Given the description of an element on the screen output the (x, y) to click on. 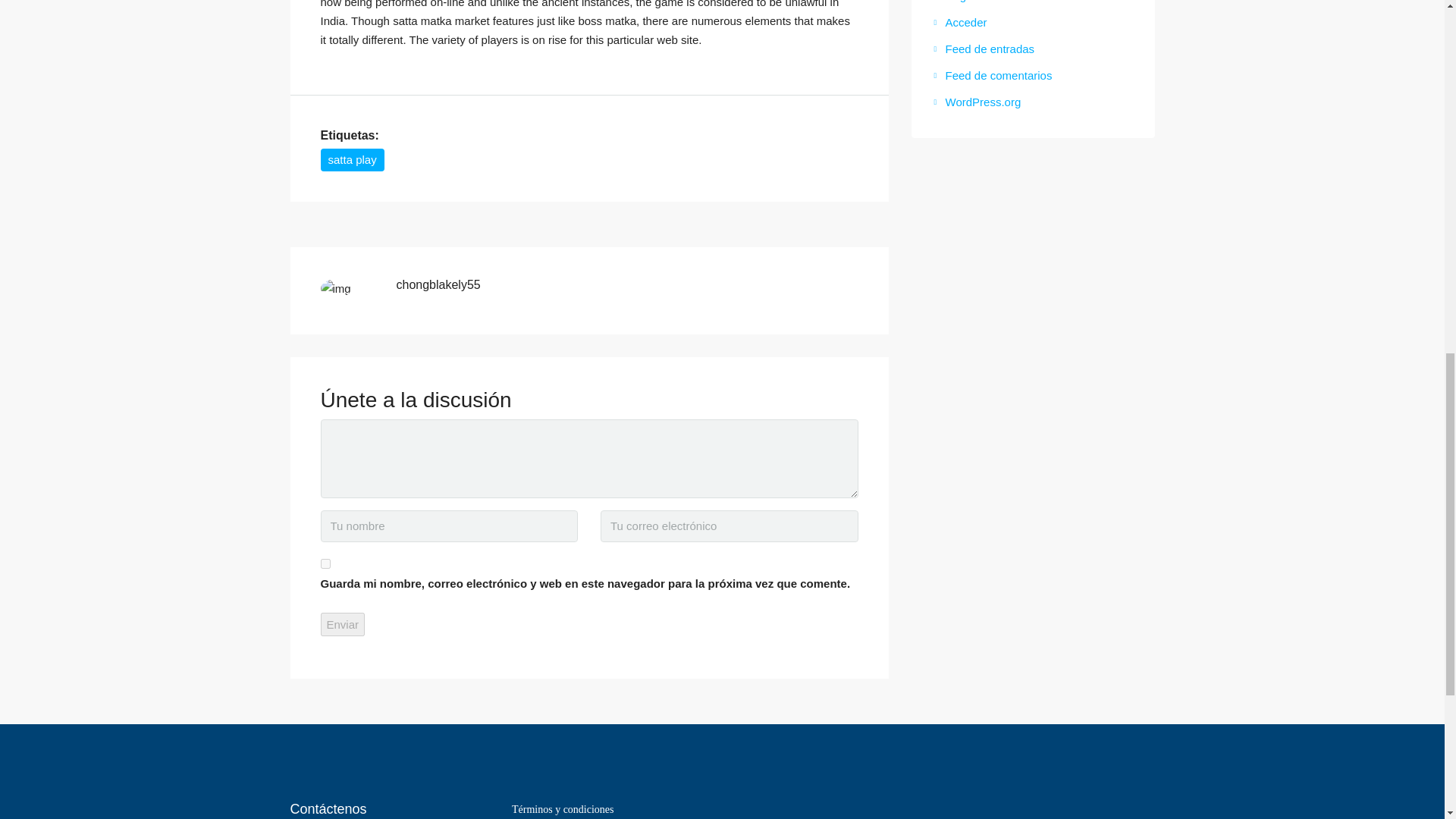
Enviar (342, 624)
satta play (352, 159)
Enviar (342, 624)
Registro (961, 1)
Acceder (960, 21)
yes (325, 563)
